Given the description of an element on the screen output the (x, y) to click on. 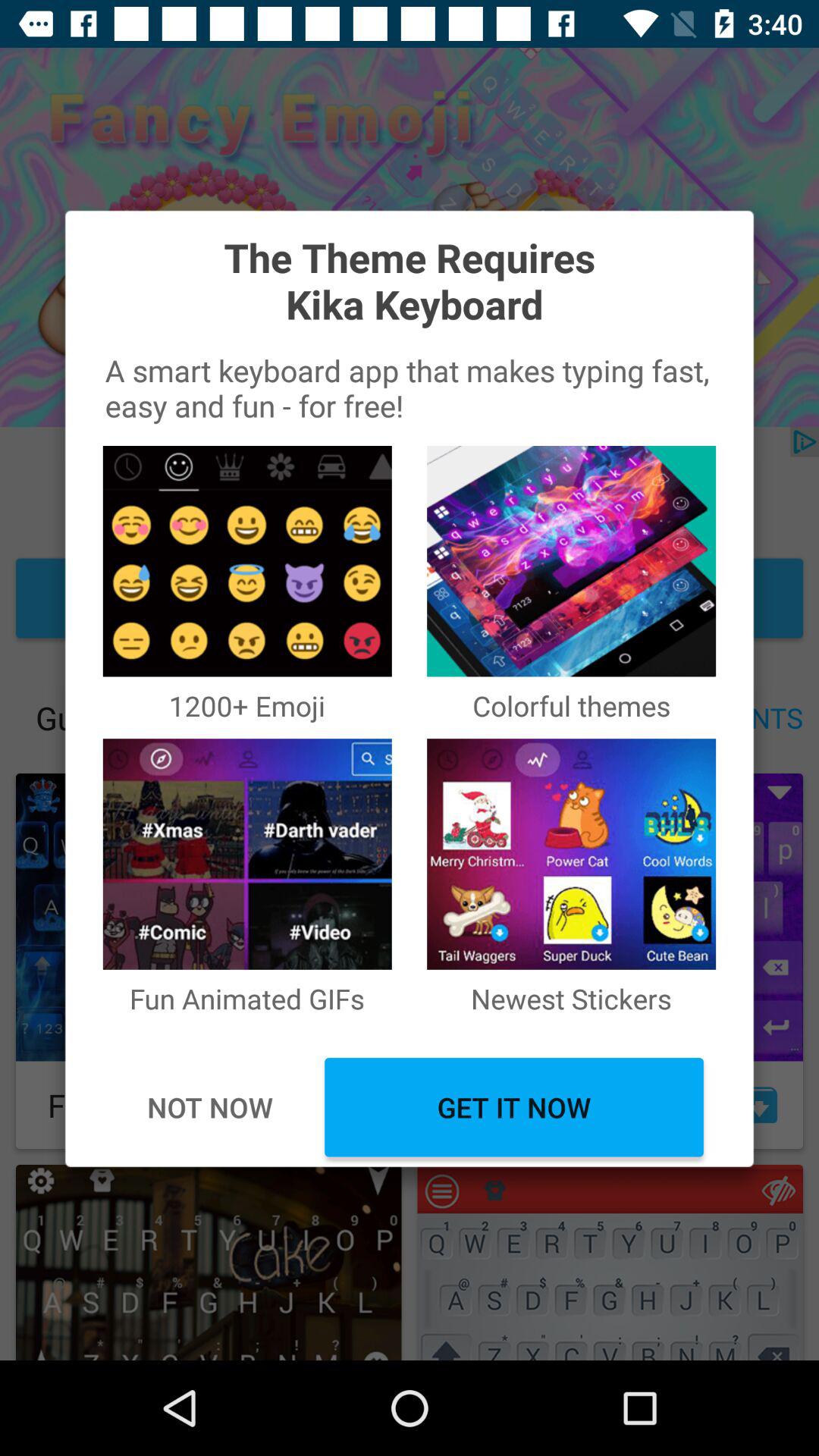
tap the item at the bottom (513, 1106)
